Given the description of an element on the screen output the (x, y) to click on. 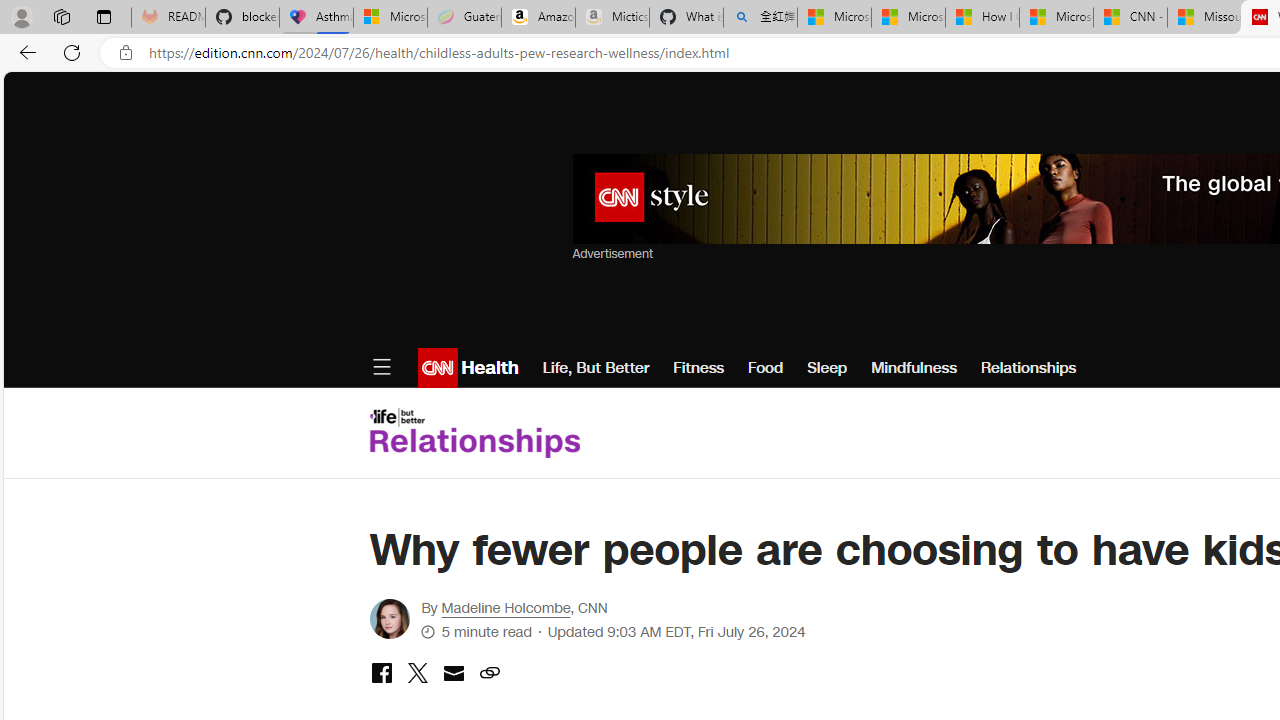
share with x (417, 674)
Life, But Better - Relationships (473, 432)
Sleep (826, 367)
CNN - MSN (1130, 17)
Madeline Holcombe (388, 619)
Life, But Better - Relationships (473, 432)
